Given the description of an element on the screen output the (x, y) to click on. 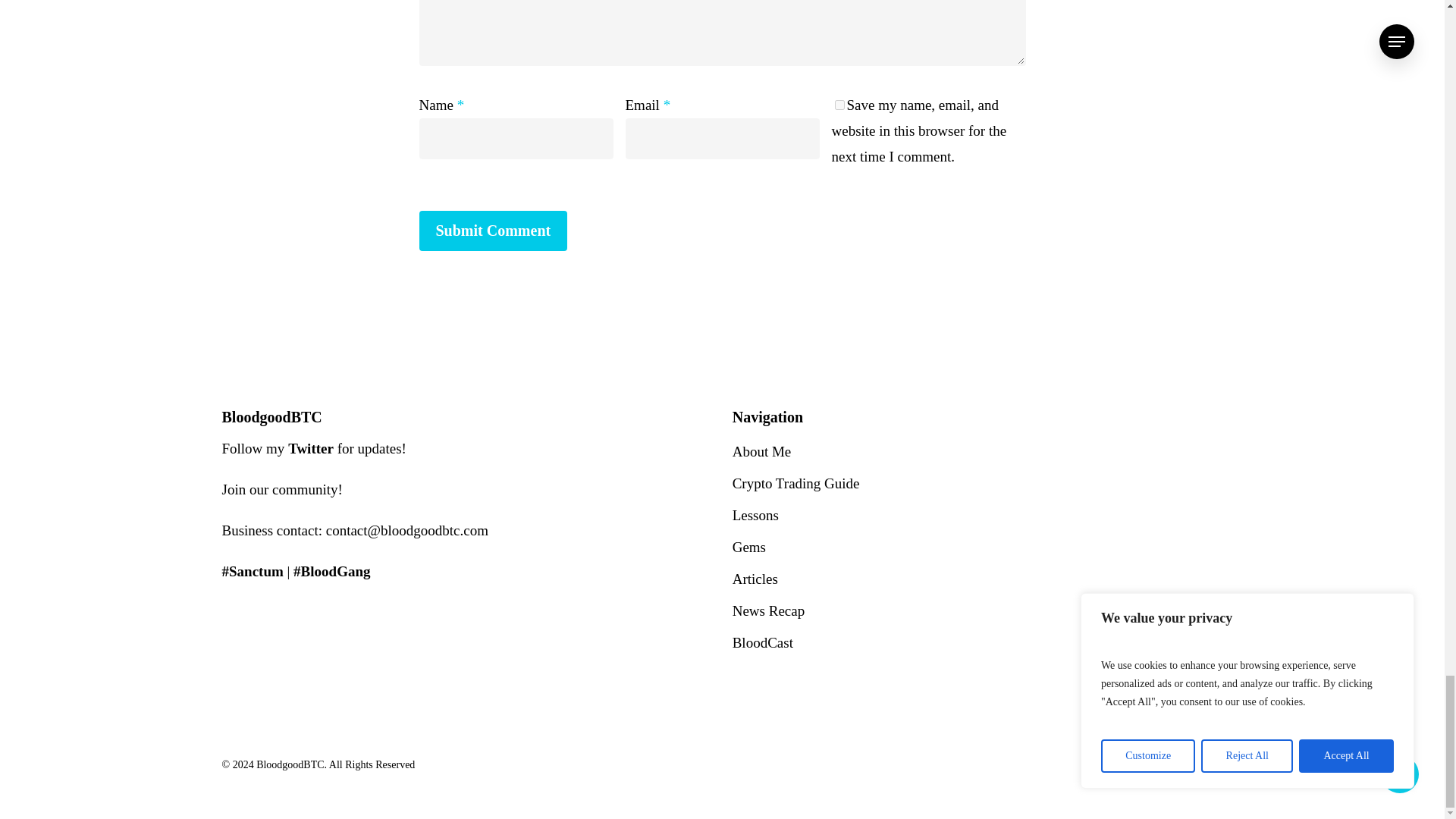
yes (839, 104)
Submit Comment (493, 230)
Submit Comment (493, 230)
